Given the description of an element on the screen output the (x, y) to click on. 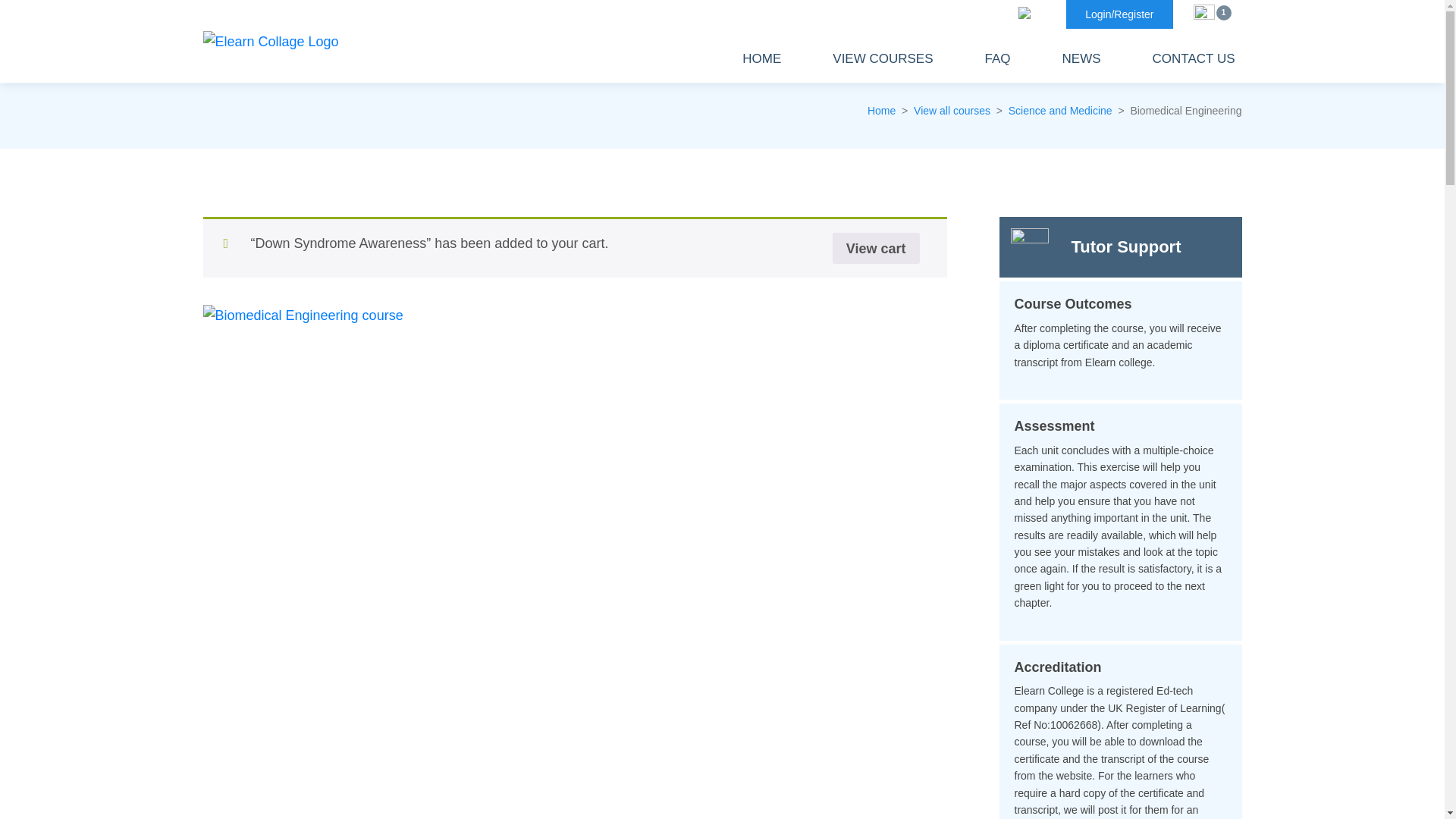
FAQ (997, 58)
View cart (876, 247)
HOME (761, 58)
View all courses (952, 110)
NEWS (1081, 58)
Science and Medicine (1060, 110)
VIEW COURSES (882, 58)
Home (881, 110)
CONTACT US (1193, 58)
